Given the description of an element on the screen output the (x, y) to click on. 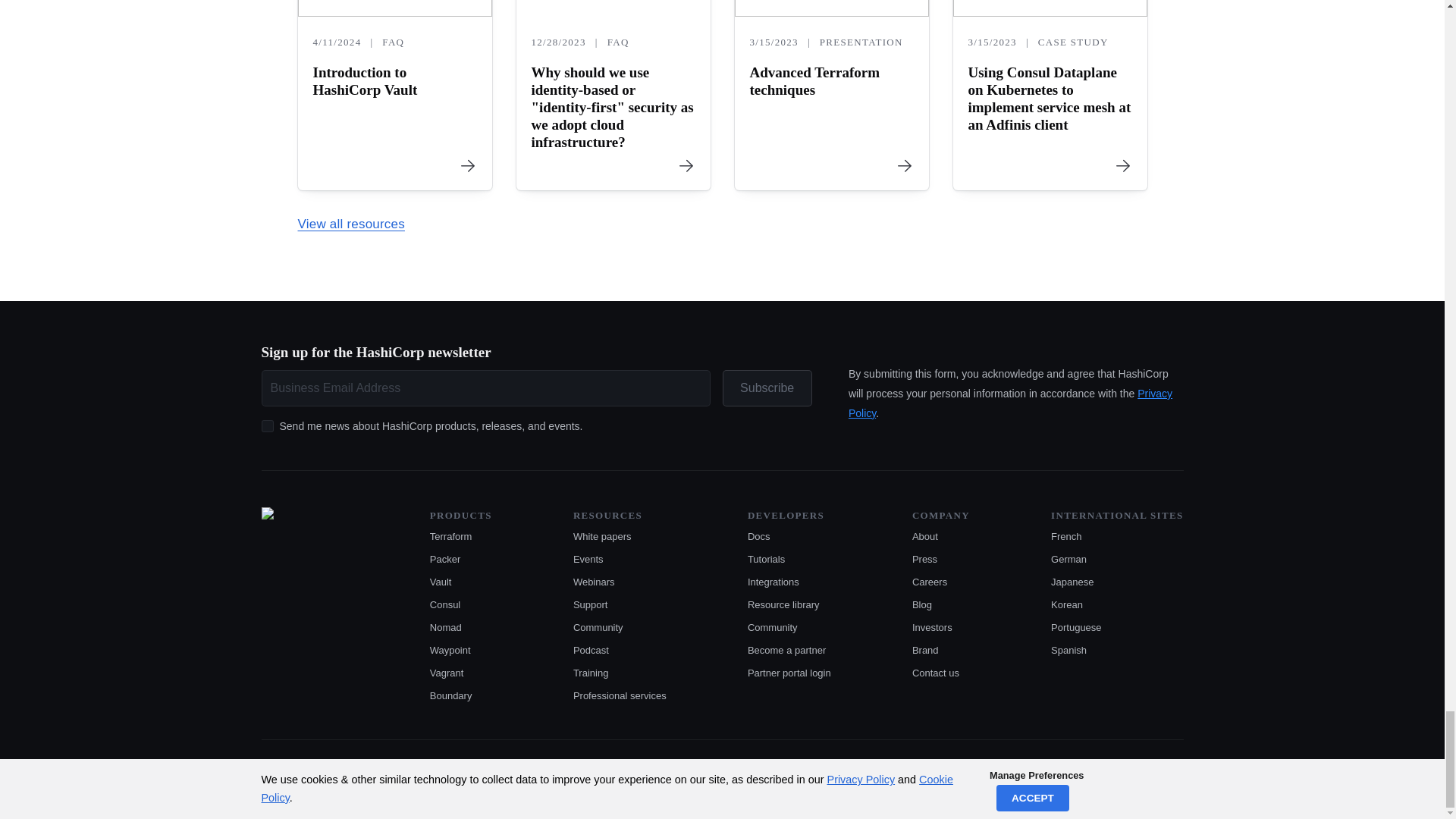
on (266, 426)
